Given the description of an element on the screen output the (x, y) to click on. 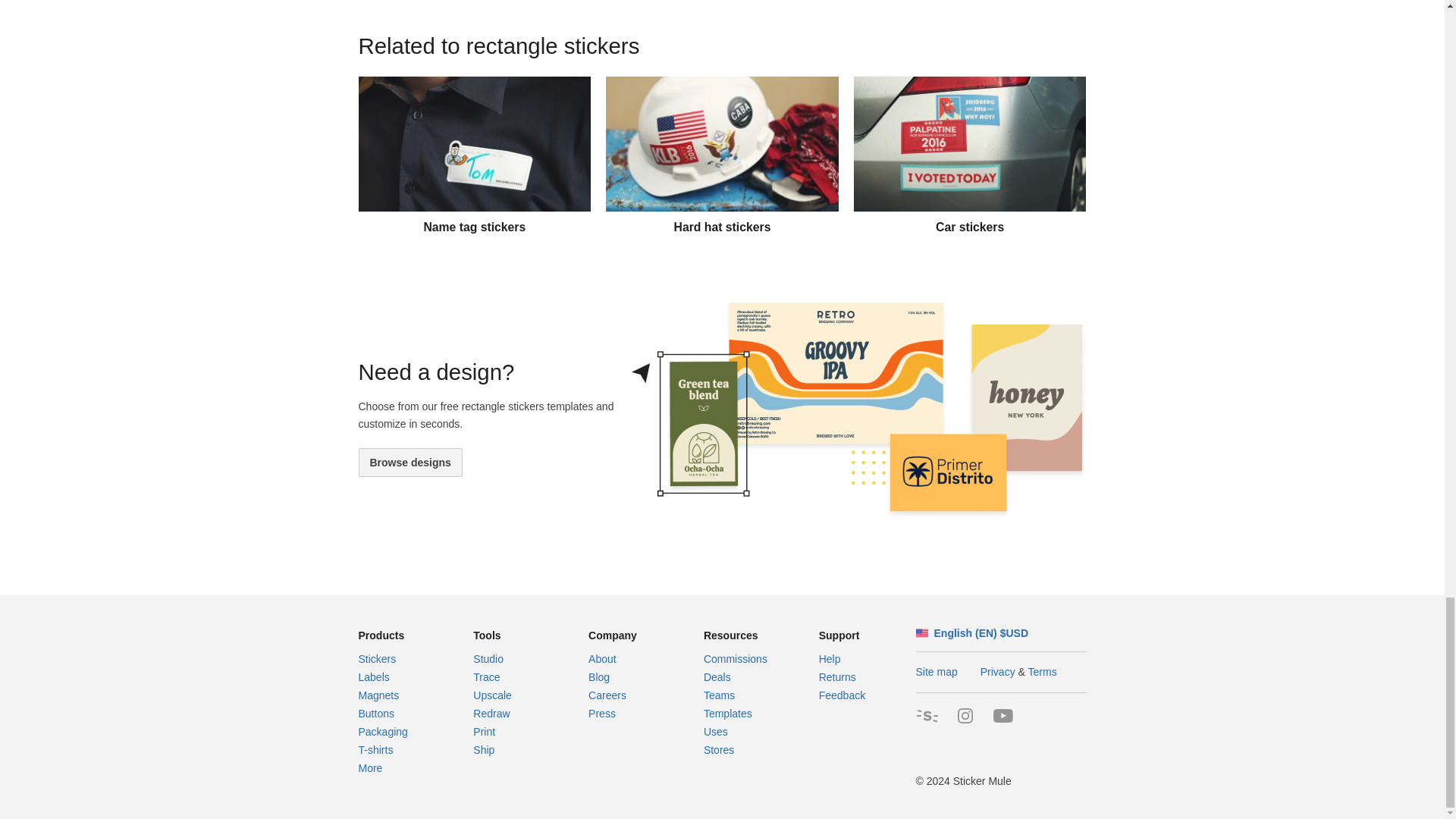
Design rectangle stickers online with Studio (858, 417)
